Given the description of an element on the screen output the (x, y) to click on. 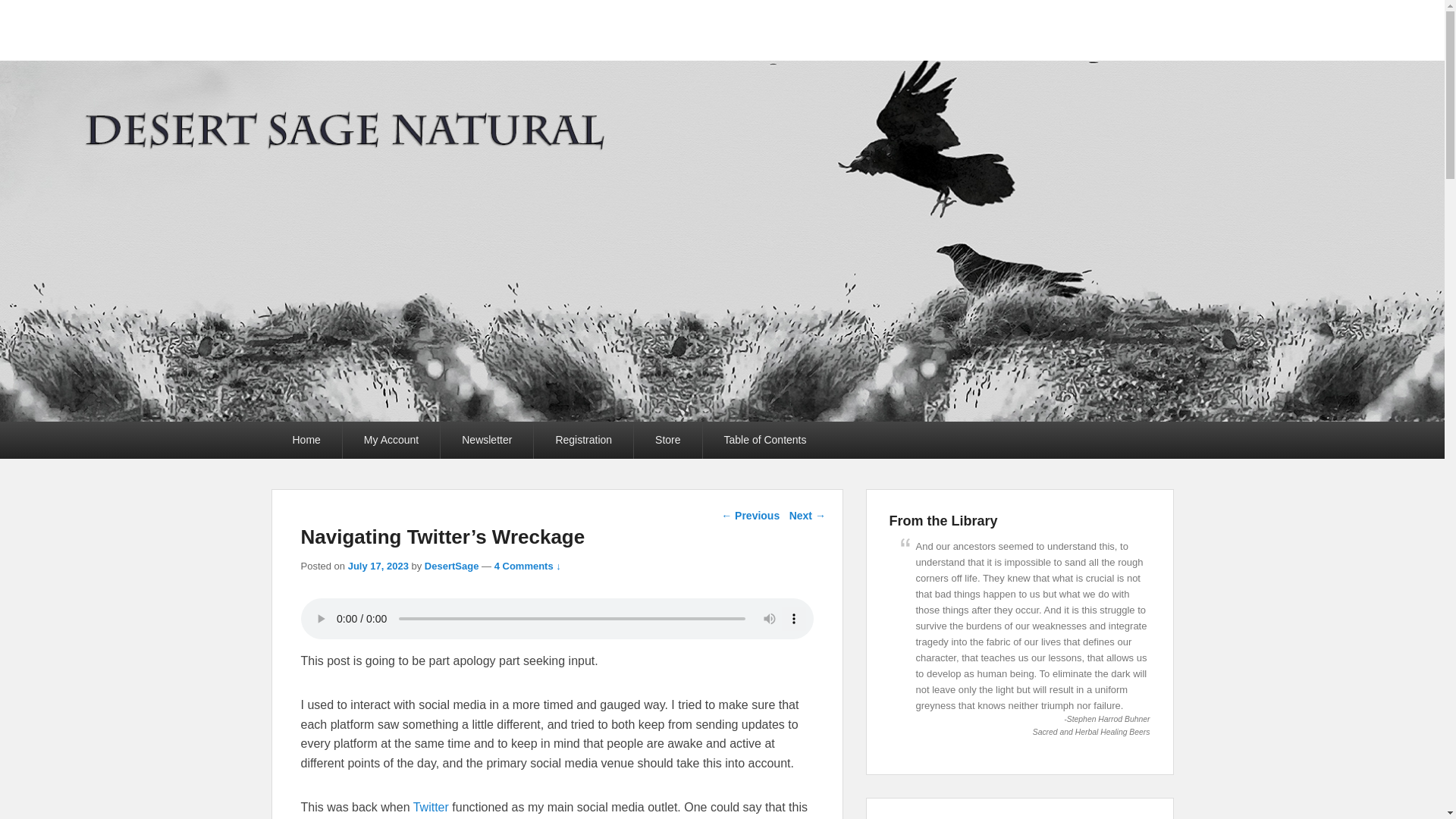
Registration (583, 439)
Desert Sage Natural (436, 48)
Twitter (430, 807)
Store (667, 439)
View all posts by DesertSage (452, 565)
DesertSage (452, 565)
5:43 am (378, 565)
Home (306, 439)
Table of Contents (765, 439)
My Account (390, 439)
Newsletter (486, 439)
July 17, 2023 (378, 565)
Desert Sage Natural (436, 48)
